Given the description of an element on the screen output the (x, y) to click on. 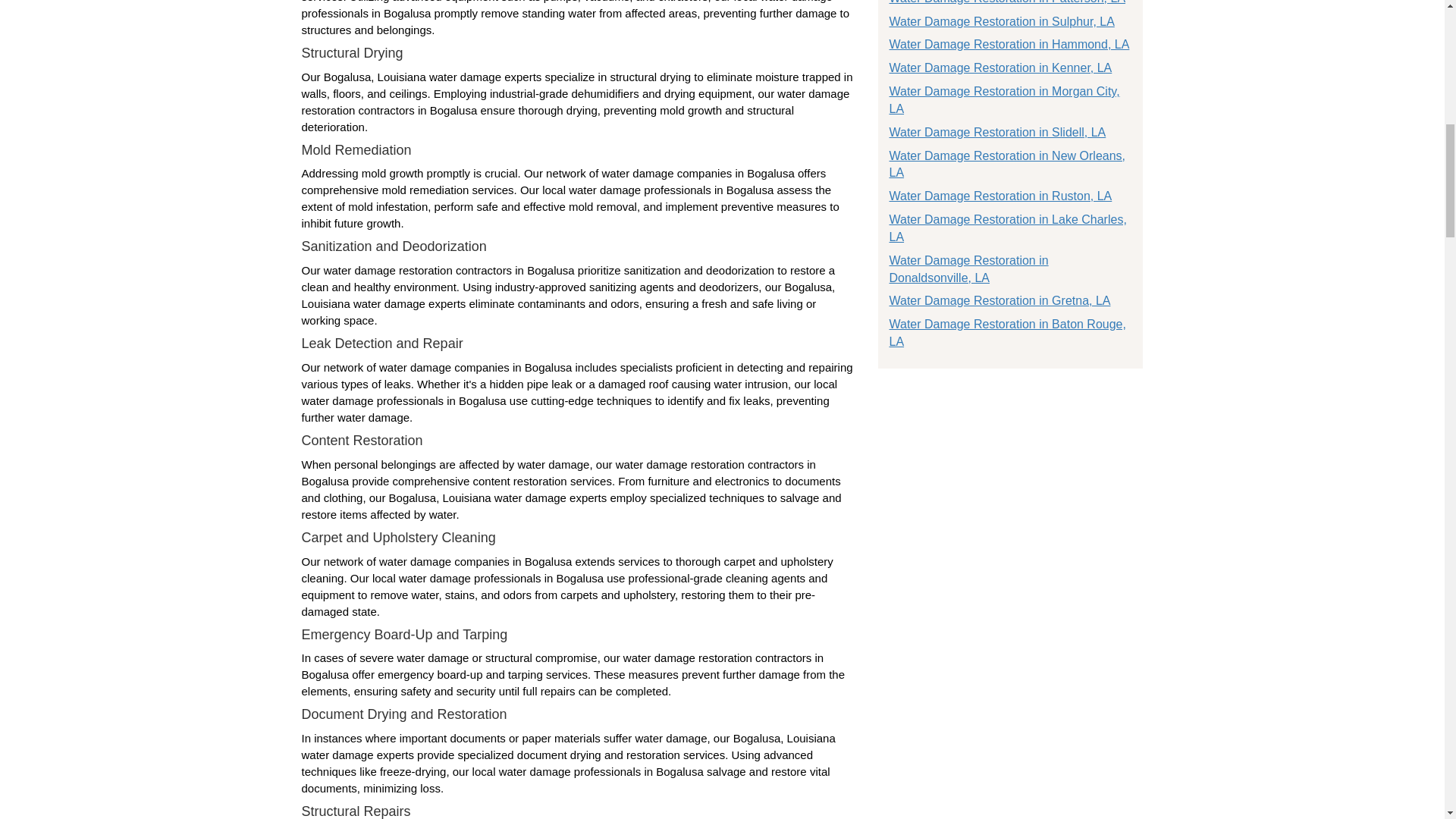
Water Damage Restoration in Morgan City, LA (1003, 100)
Water Damage Restoration in Patterson, LA (1006, 2)
Water Damage Restoration in Slidell, LA (996, 132)
Water Damage Restoration in Donaldsonville, LA (968, 268)
Water Damage Restoration in Ruston, LA (1000, 195)
Water Damage Restoration in Baton Rouge, LA (1006, 332)
Water Damage Restoration in Gretna, LA (998, 300)
Water Damage Restoration in Sulphur, LA (1000, 21)
Water Damage Restoration in Gretna, LA (998, 300)
Water Damage Restoration in Hammond, LA (1008, 43)
